Given the description of an element on the screen output the (x, y) to click on. 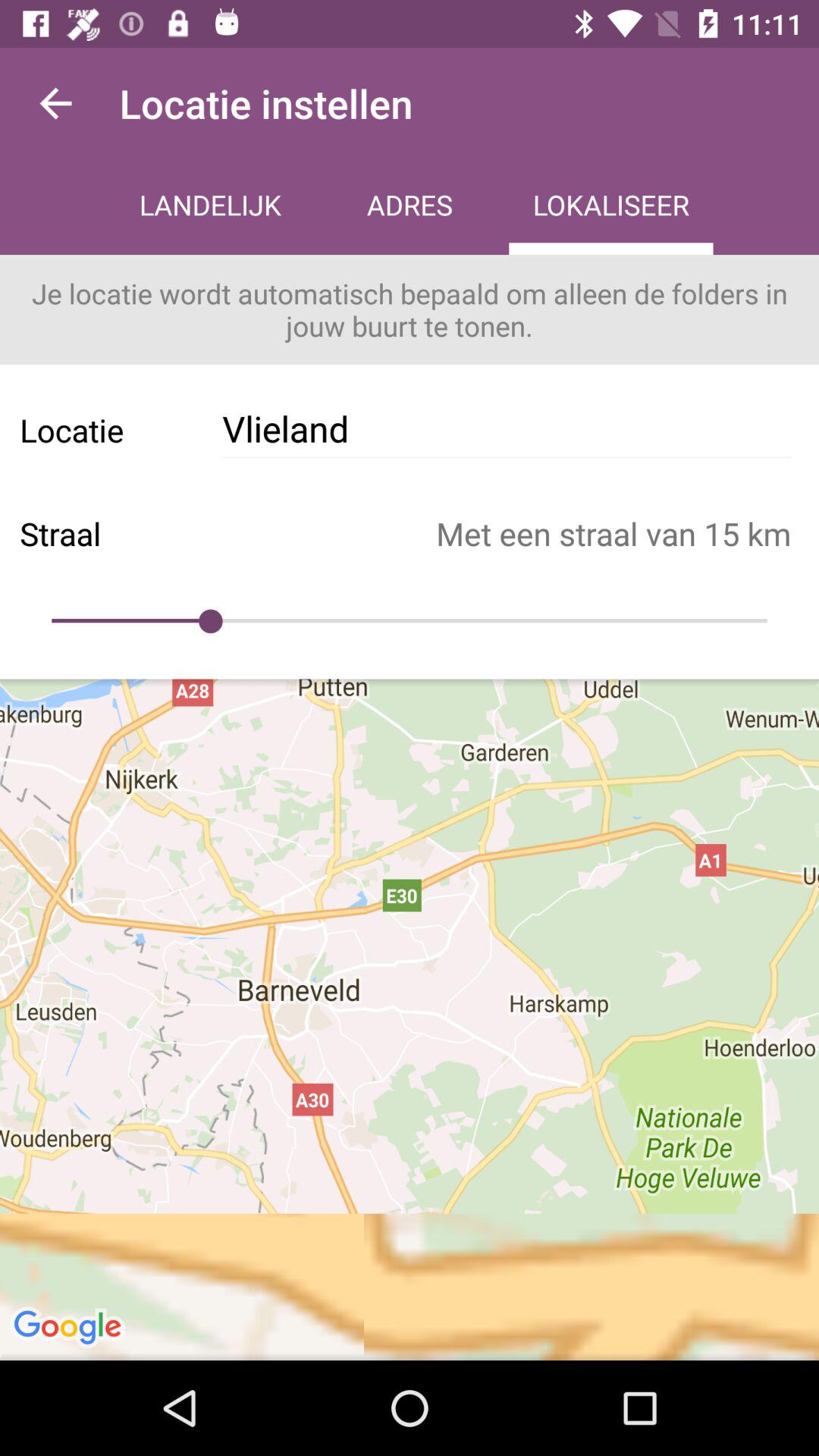
click the icon above je locatie wordt icon (409, 206)
